Given the description of an element on the screen output the (x, y) to click on. 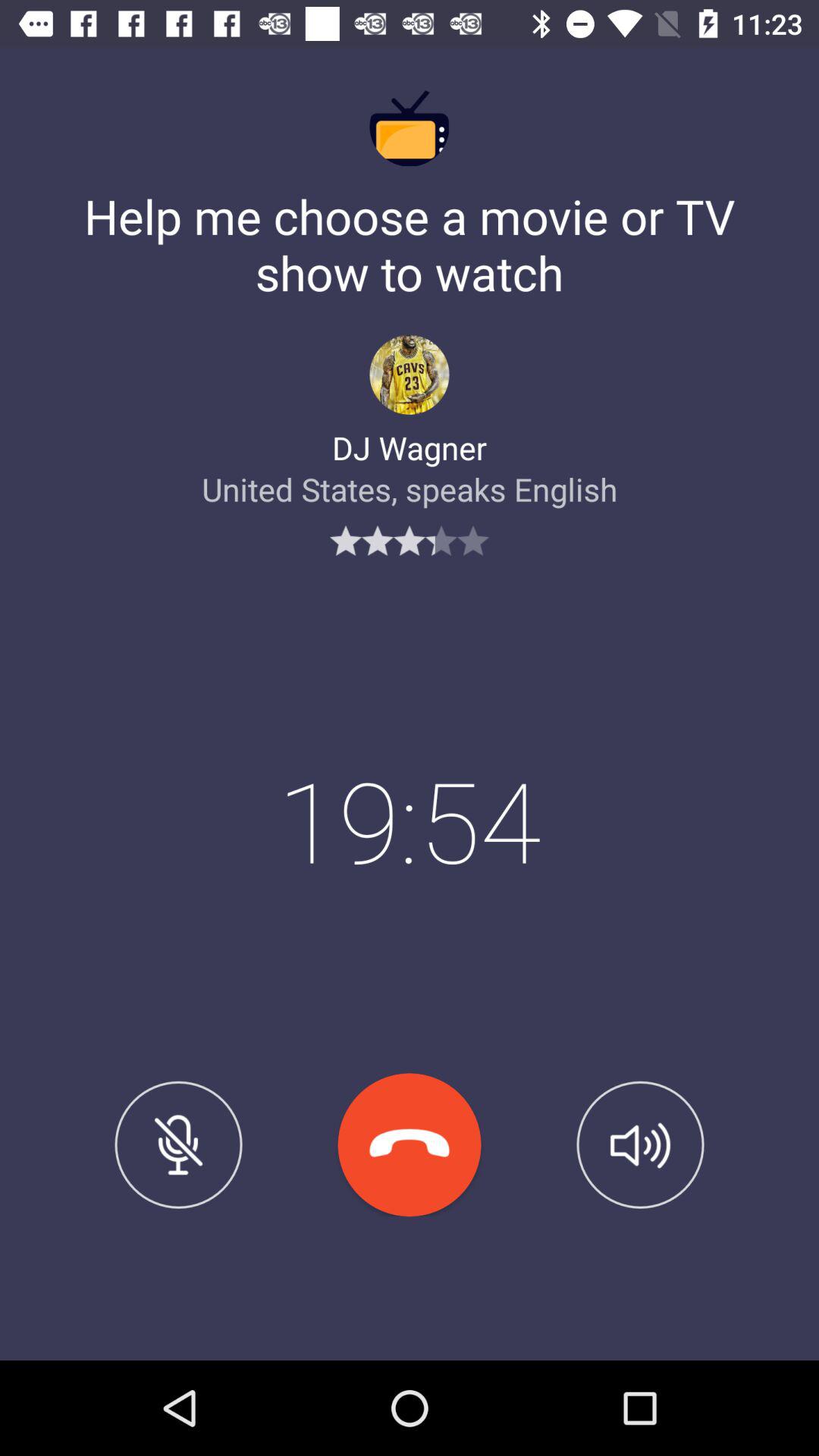
sound (640, 1144)
